Given the description of an element on the screen output the (x, y) to click on. 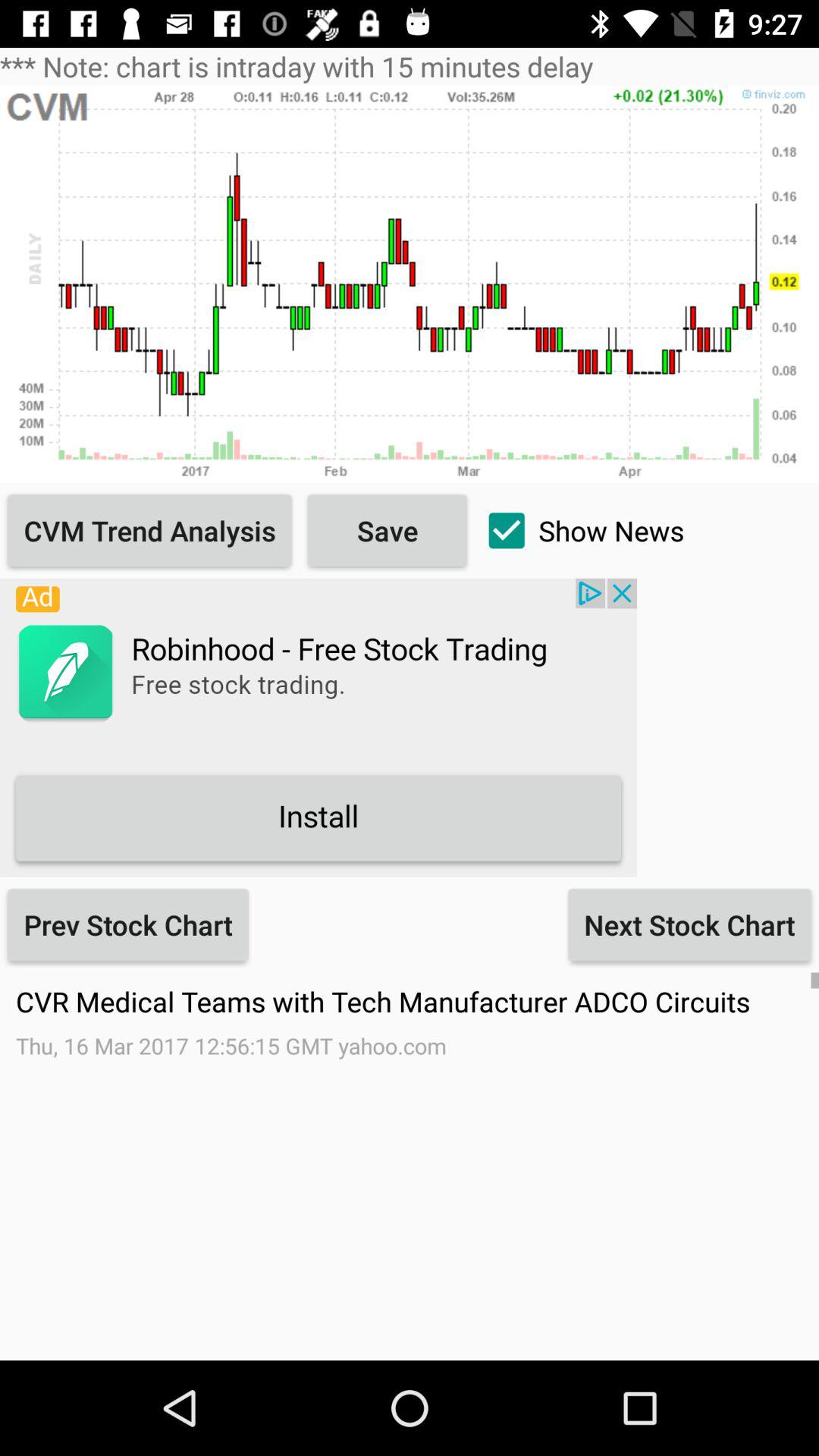
advertisement (318, 727)
